Given the description of an element on the screen output the (x, y) to click on. 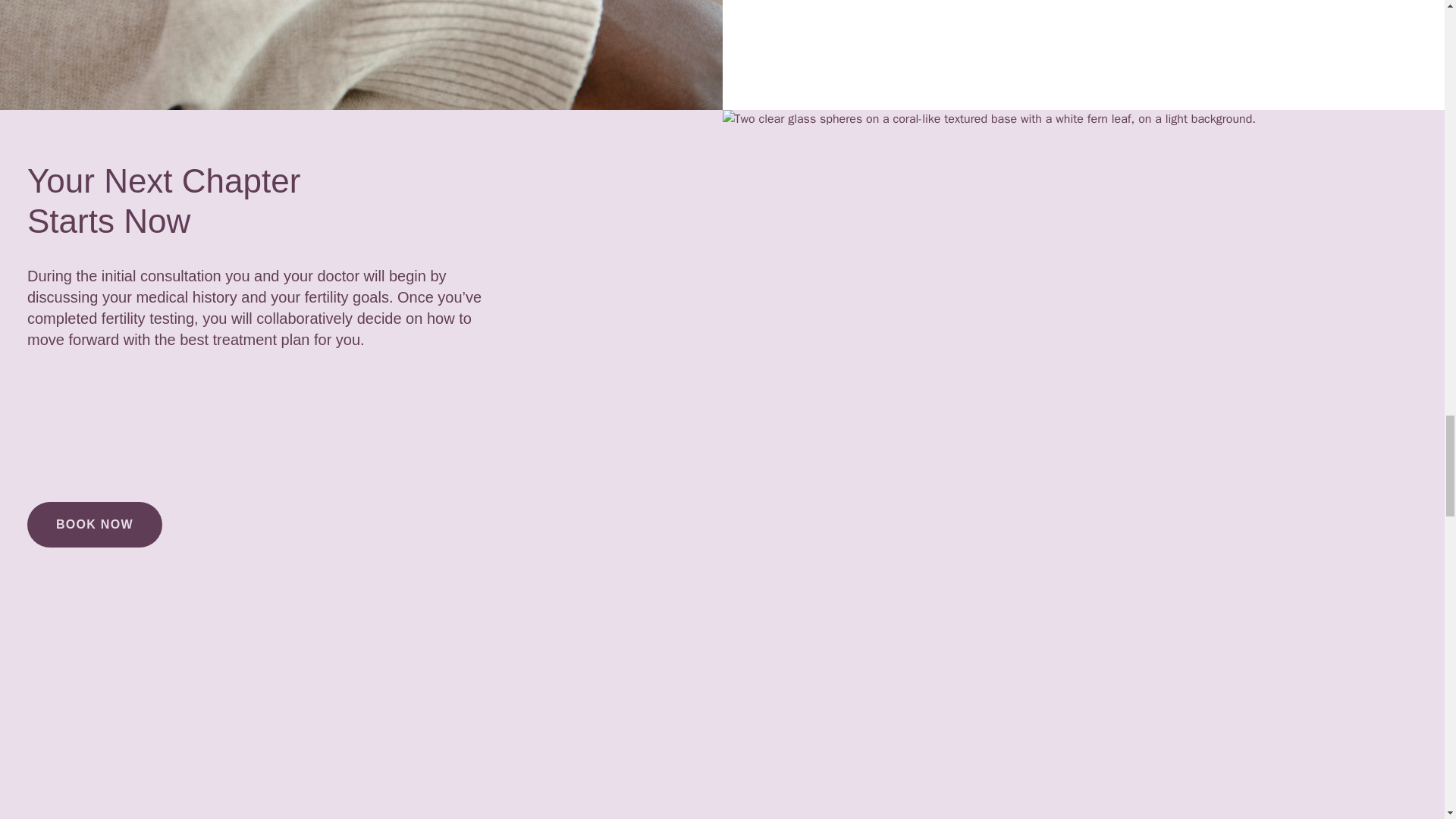
BOOK NOW (94, 524)
